Given the description of an element on the screen output the (x, y) to click on. 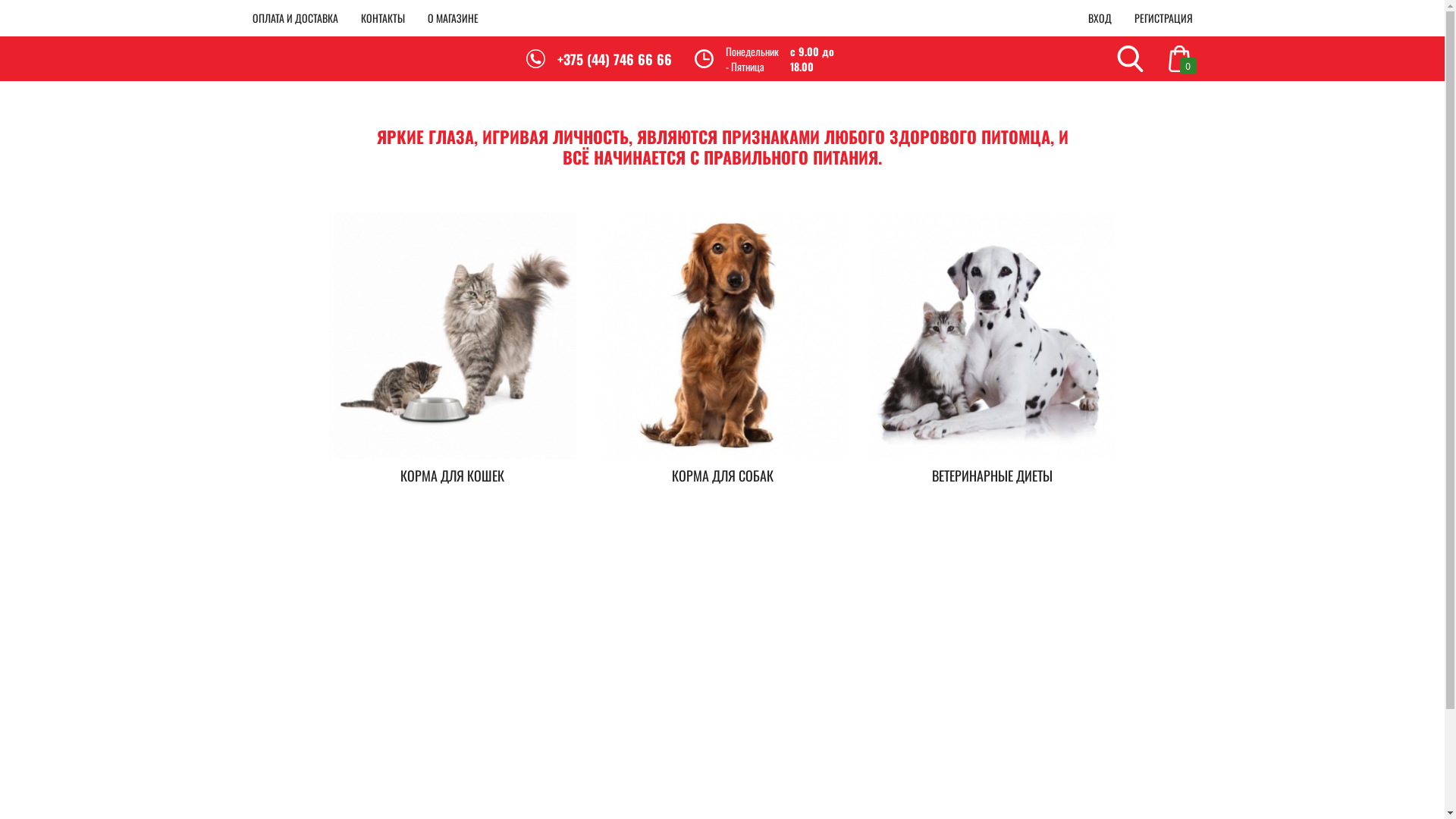
+375 (44) 746 66 66 Element type: text (614, 58)
0 Element type: text (1179, 58)
